Given the description of an element on the screen output the (x, y) to click on. 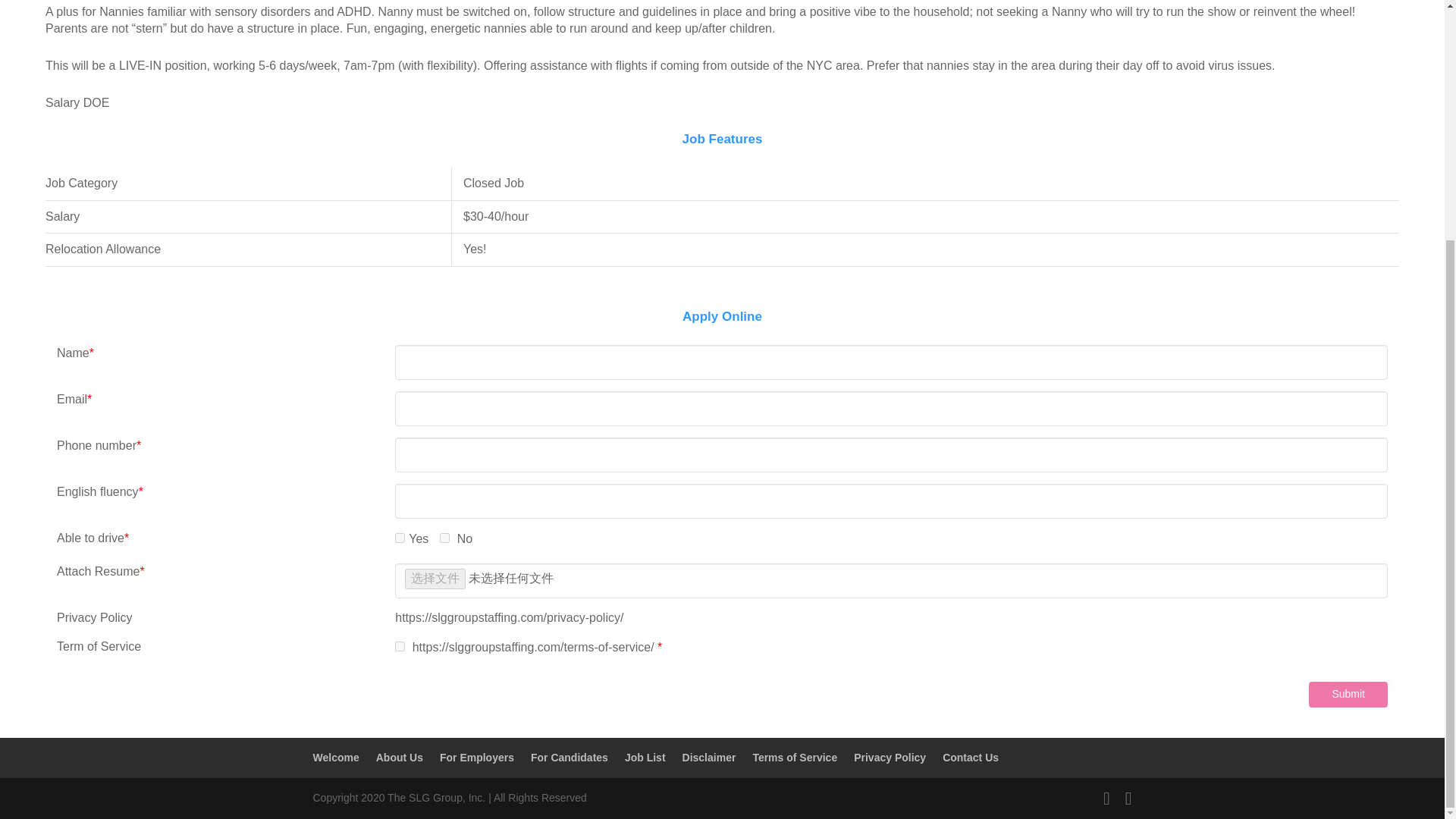
Submit (1347, 694)
Privacy Policy (889, 757)
About Us (399, 757)
Welcome (335, 757)
Job List (644, 757)
Yes (399, 537)
Disclaimer (709, 757)
For Employers (476, 757)
 No (444, 537)
For Candidates (569, 757)
